Given the description of an element on the screen output the (x, y) to click on. 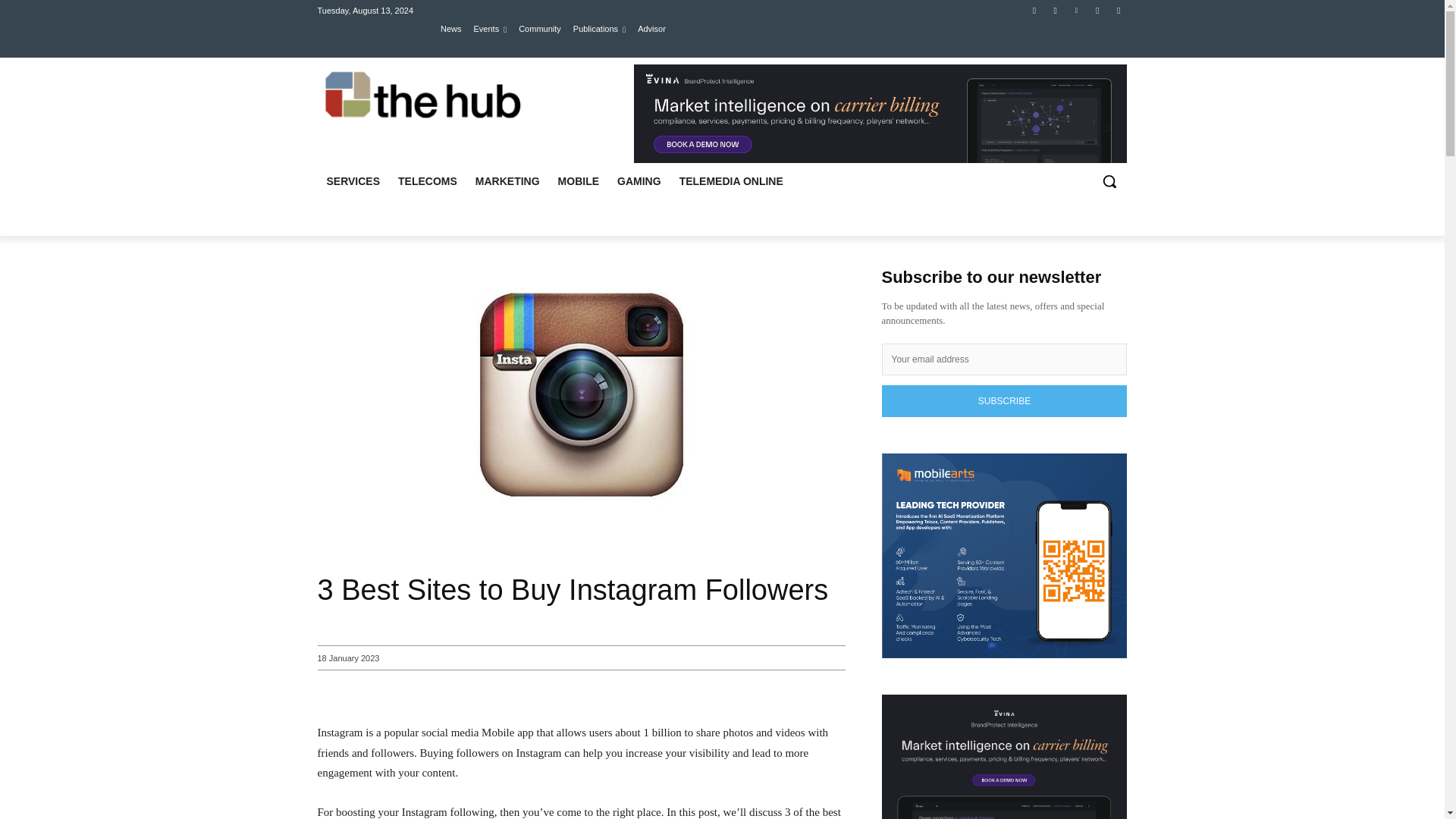
Advisor (651, 28)
Telemedia Online Magazine Logo (425, 95)
News (451, 28)
Events (489, 28)
Youtube (1097, 9)
Community (539, 28)
Rss (1117, 9)
Publications (599, 28)
Evina 110o x 220 (879, 113)
Facebook (1034, 9)
